Given the description of an element on the screen output the (x, y) to click on. 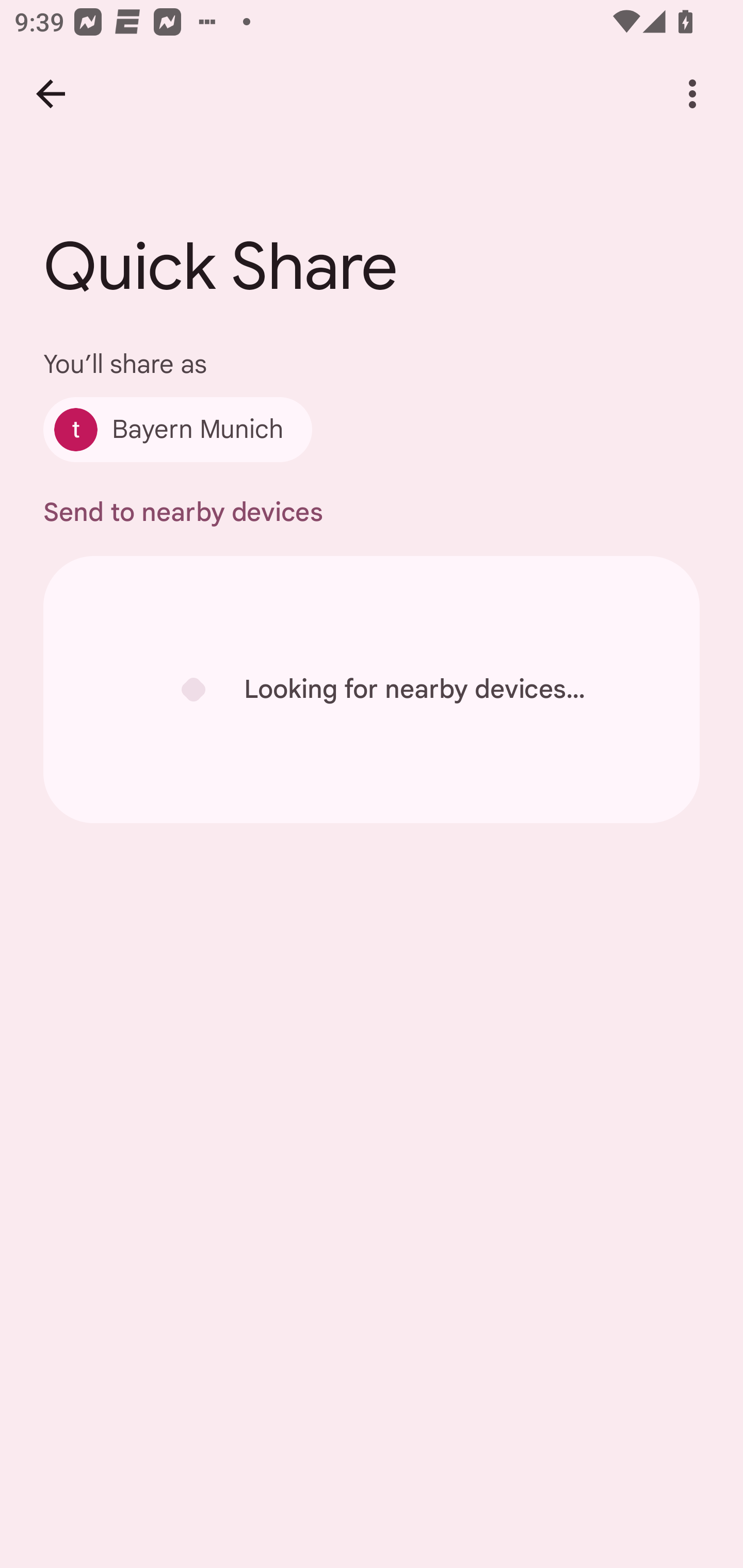
Back (50, 93)
More (692, 93)
Bayern Munich (177, 429)
